Given the description of an element on the screen output the (x, y) to click on. 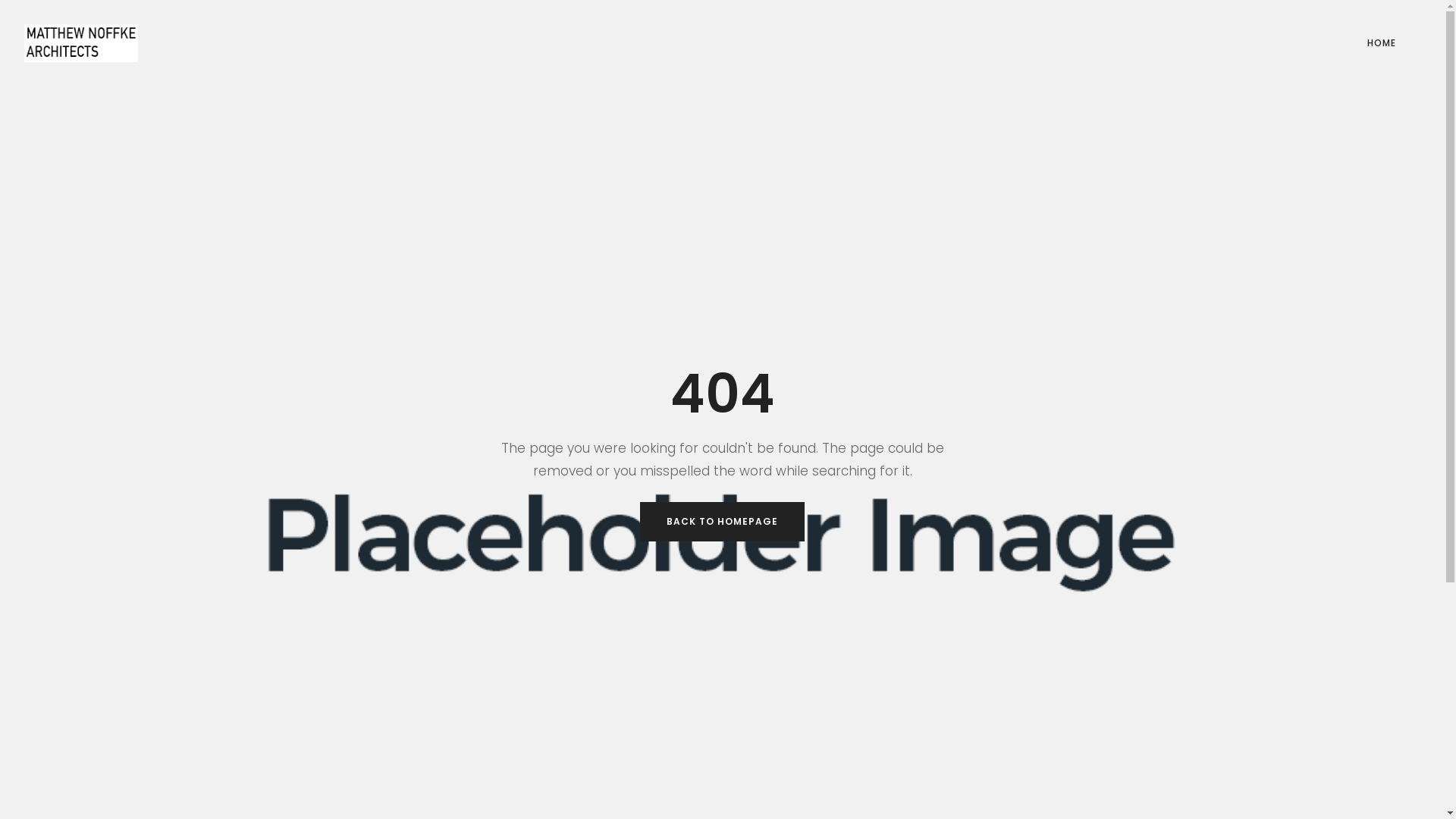
BACK TO HOMEPAGE Element type: text (722, 521)
HOME Element type: text (1381, 43)
